Given the description of an element on the screen output the (x, y) to click on. 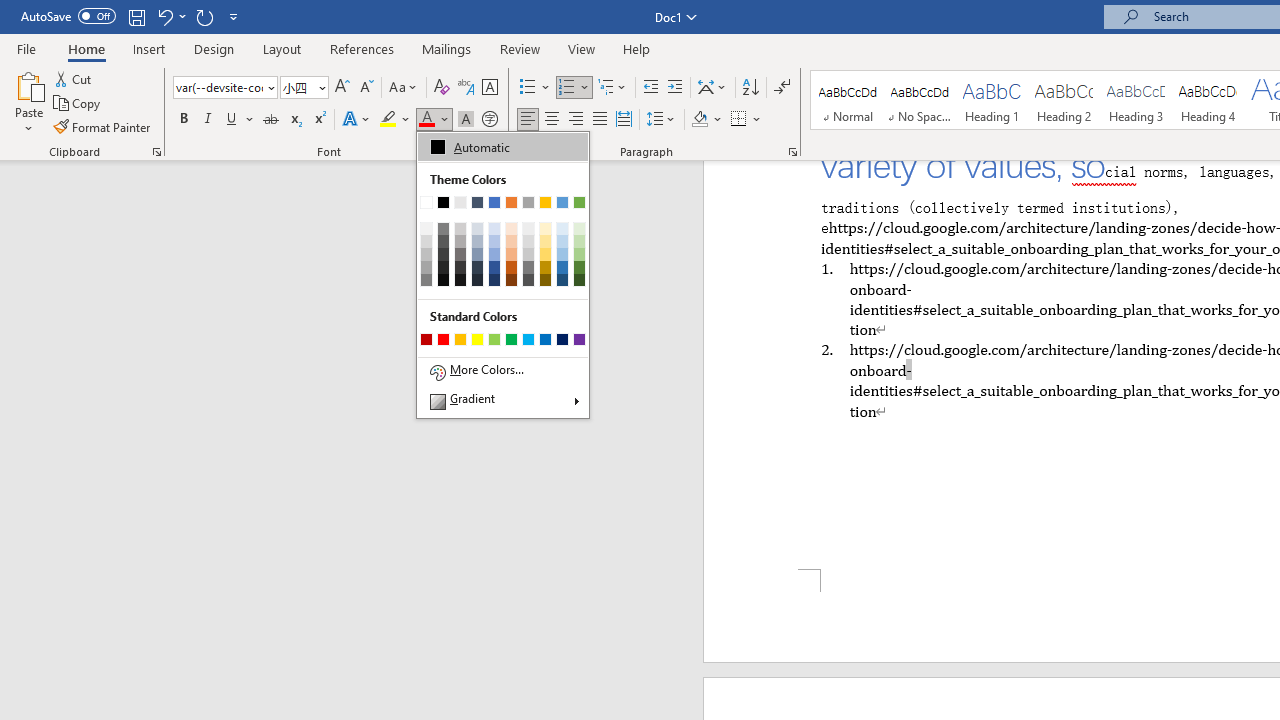
Font Color Automatic (426, 119)
Repeat Underline Style (204, 15)
Undo Paragraph Alignment (164, 15)
